Given the description of an element on the screen output the (x, y) to click on. 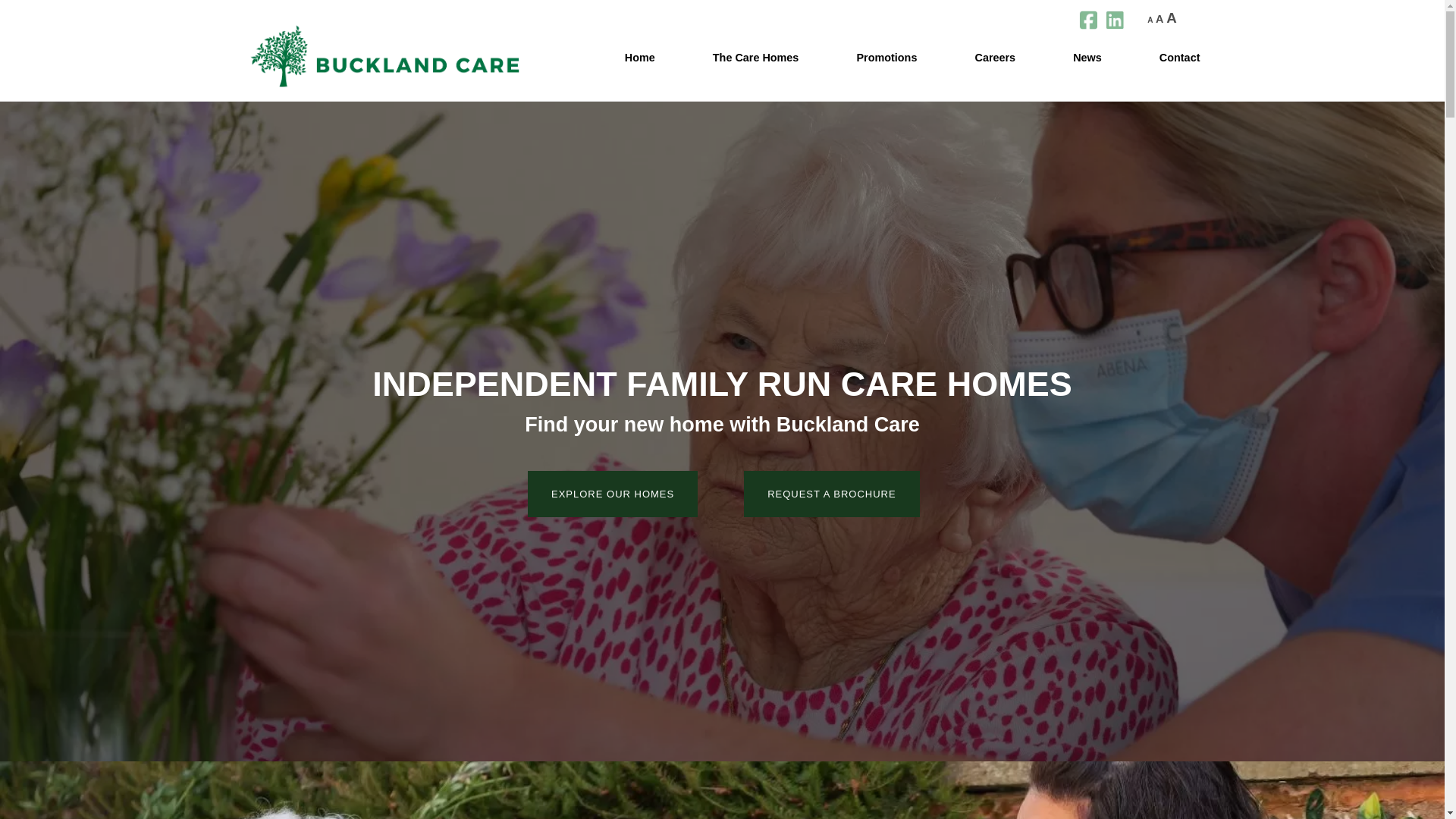
Careers (995, 57)
News (1087, 57)
REQUEST A BROCHURE (831, 493)
EXPLORE OUR HOMES (612, 493)
Contact (1175, 57)
Home (639, 57)
The Care Homes (755, 57)
Promotions (886, 57)
